Given the description of an element on the screen output the (x, y) to click on. 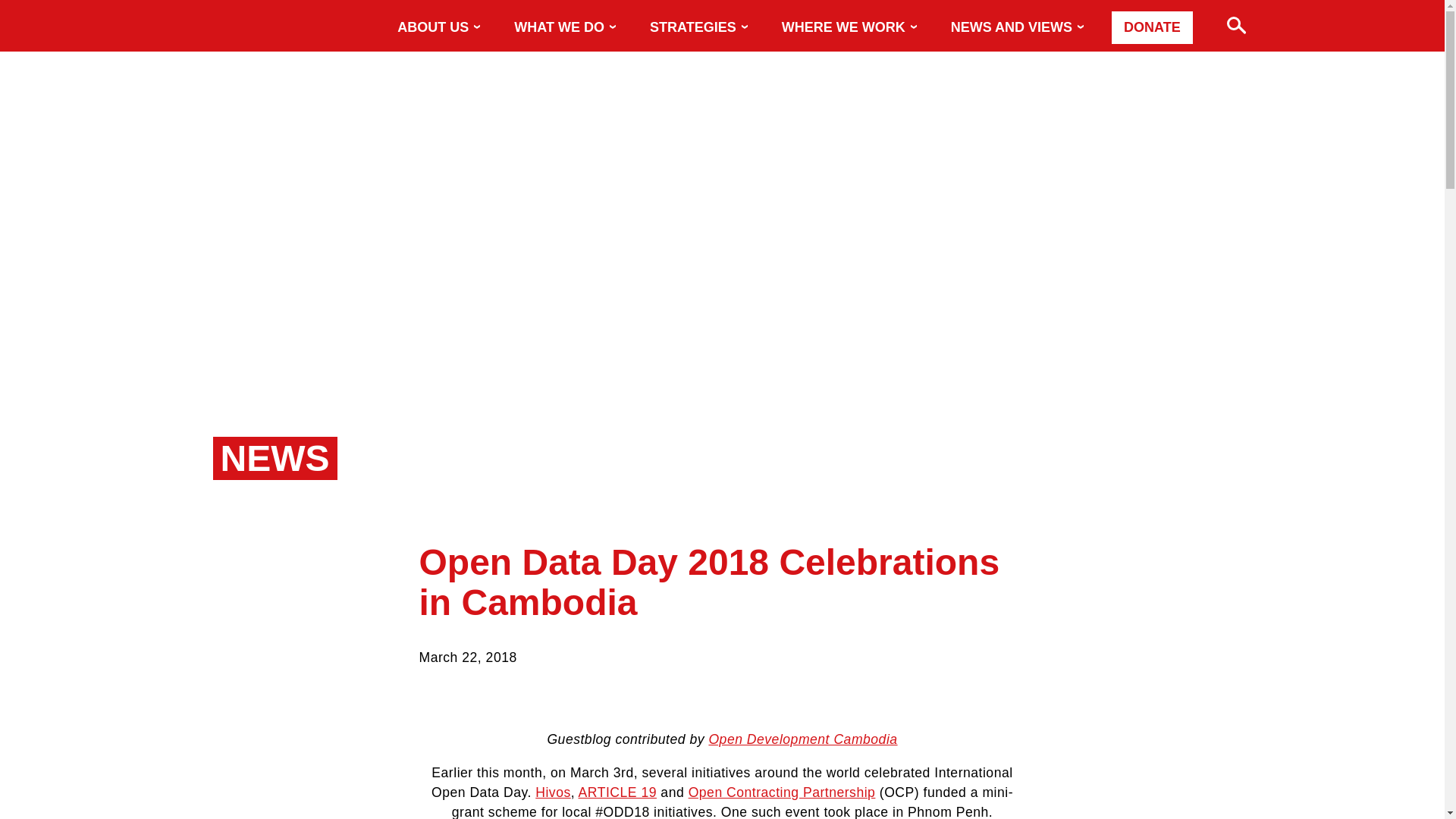
WHAT WE DO (569, 27)
Open Search (1226, 21)
ABOUT US (443, 27)
